Given the description of an element on the screen output the (x, y) to click on. 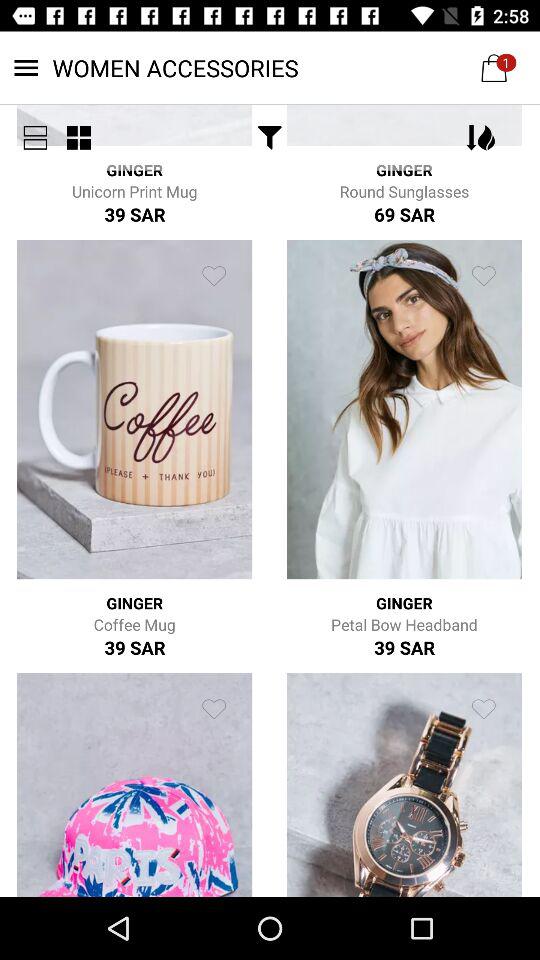
turn on icon below the women accessories item (35, 137)
